Given the description of an element on the screen output the (x, y) to click on. 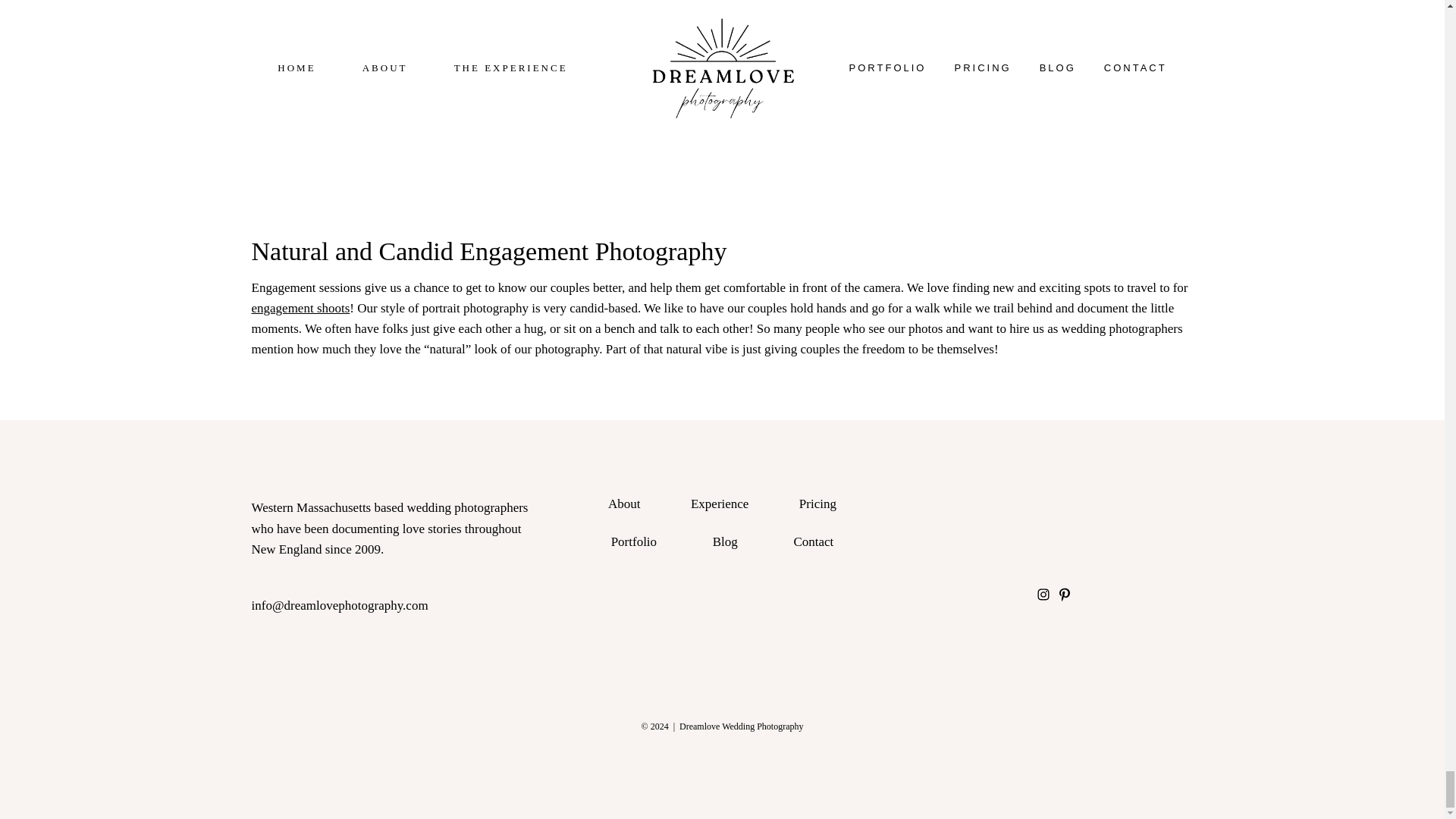
Contact (813, 541)
Blog (724, 541)
engagement shoots (300, 308)
Instagram (1043, 594)
Pricing (817, 503)
About (623, 503)
Experience (719, 503)
Portfolio (633, 541)
Pinterest (1064, 594)
